Given the description of an element on the screen output the (x, y) to click on. 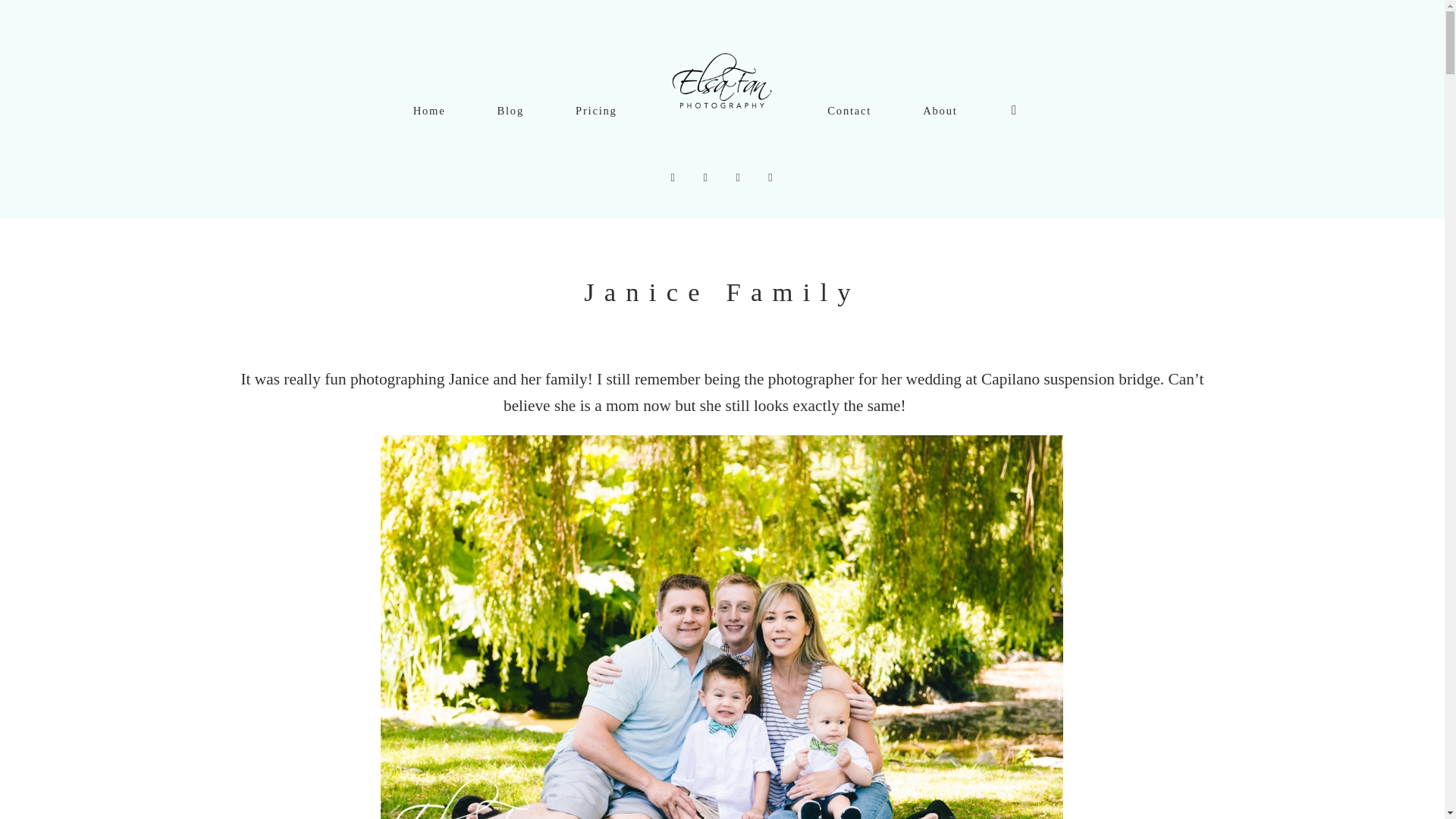
Pricing (596, 111)
Home (429, 111)
About (939, 111)
Blog (510, 111)
Contact (848, 111)
